Given the description of an element on the screen output the (x, y) to click on. 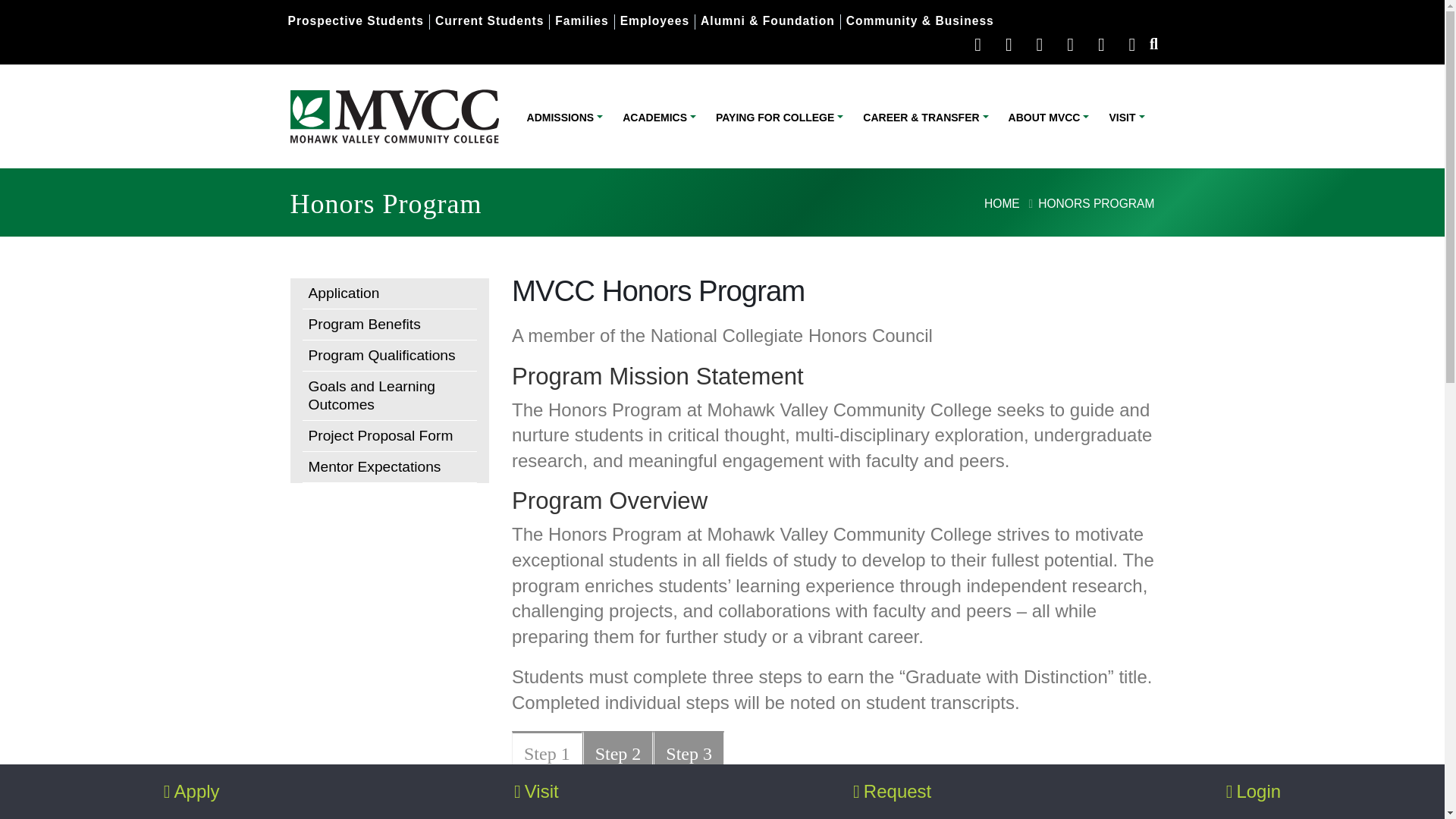
Prospective Students Home (355, 20)
Current Students Home (489, 20)
President's Blog (1131, 43)
ACADEMICS (659, 117)
Current Students (489, 20)
LinkedIn (1100, 43)
Instagram (1070, 43)
Goals and Learning Outcomes (389, 395)
Facebook (1008, 43)
Live Chat (978, 43)
Families and Supporters Home (581, 20)
Instagram (1070, 43)
Honors Application (389, 293)
Facebook (1008, 43)
Employees Home (654, 20)
